Given the description of an element on the screen output the (x, y) to click on. 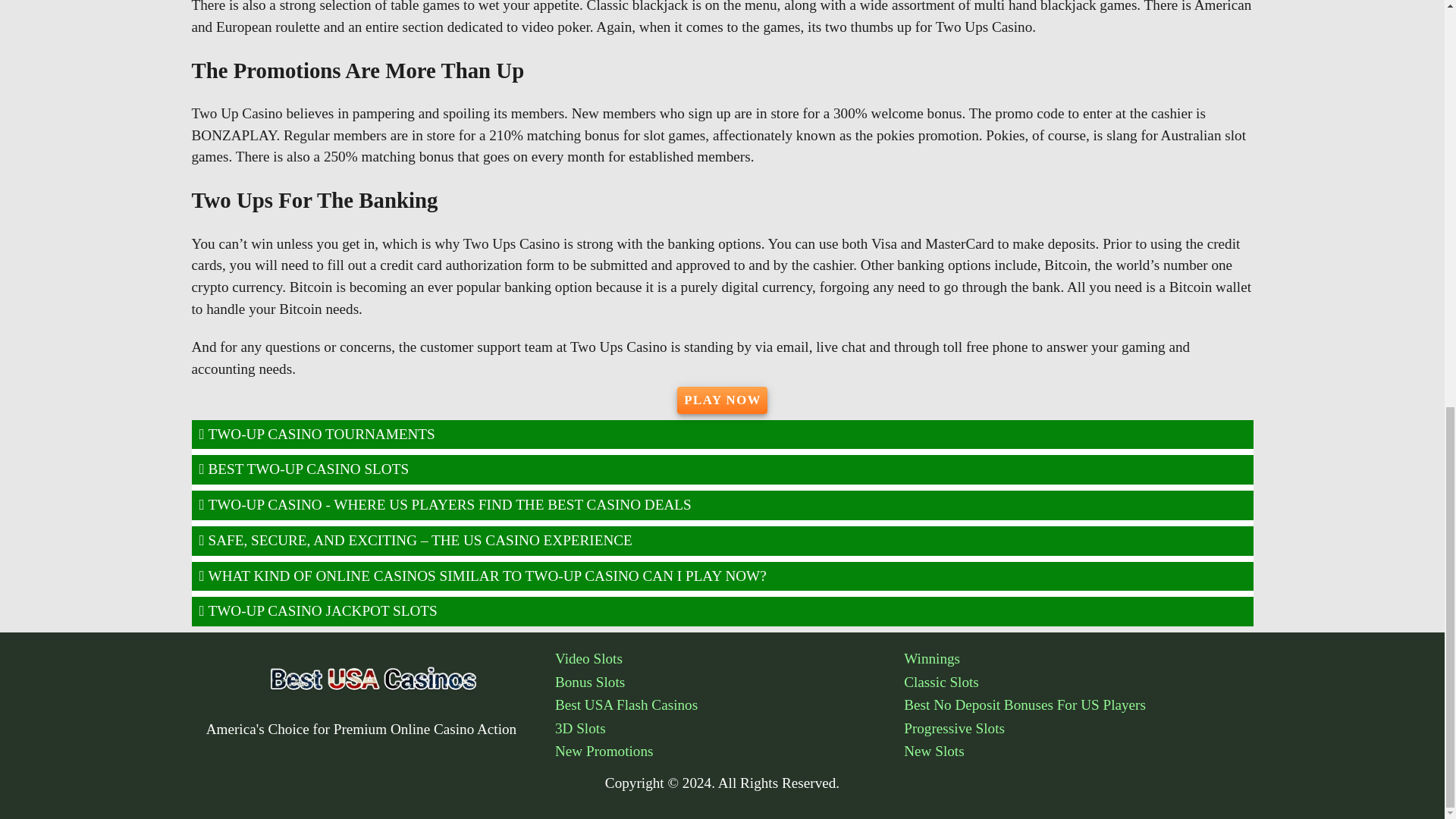
New Promotions (729, 751)
Progressive Slots (1078, 729)
New Slots (1078, 751)
Best No Deposit Bonuses For US Players (1078, 705)
Winnings (1078, 659)
3D Slots (729, 729)
Classic Slots (1078, 682)
Best USA Flash Casinos (729, 705)
Bonus Slots (729, 682)
Video Slots (729, 659)
PLAY NOW (722, 399)
